Given the description of an element on the screen output the (x, y) to click on. 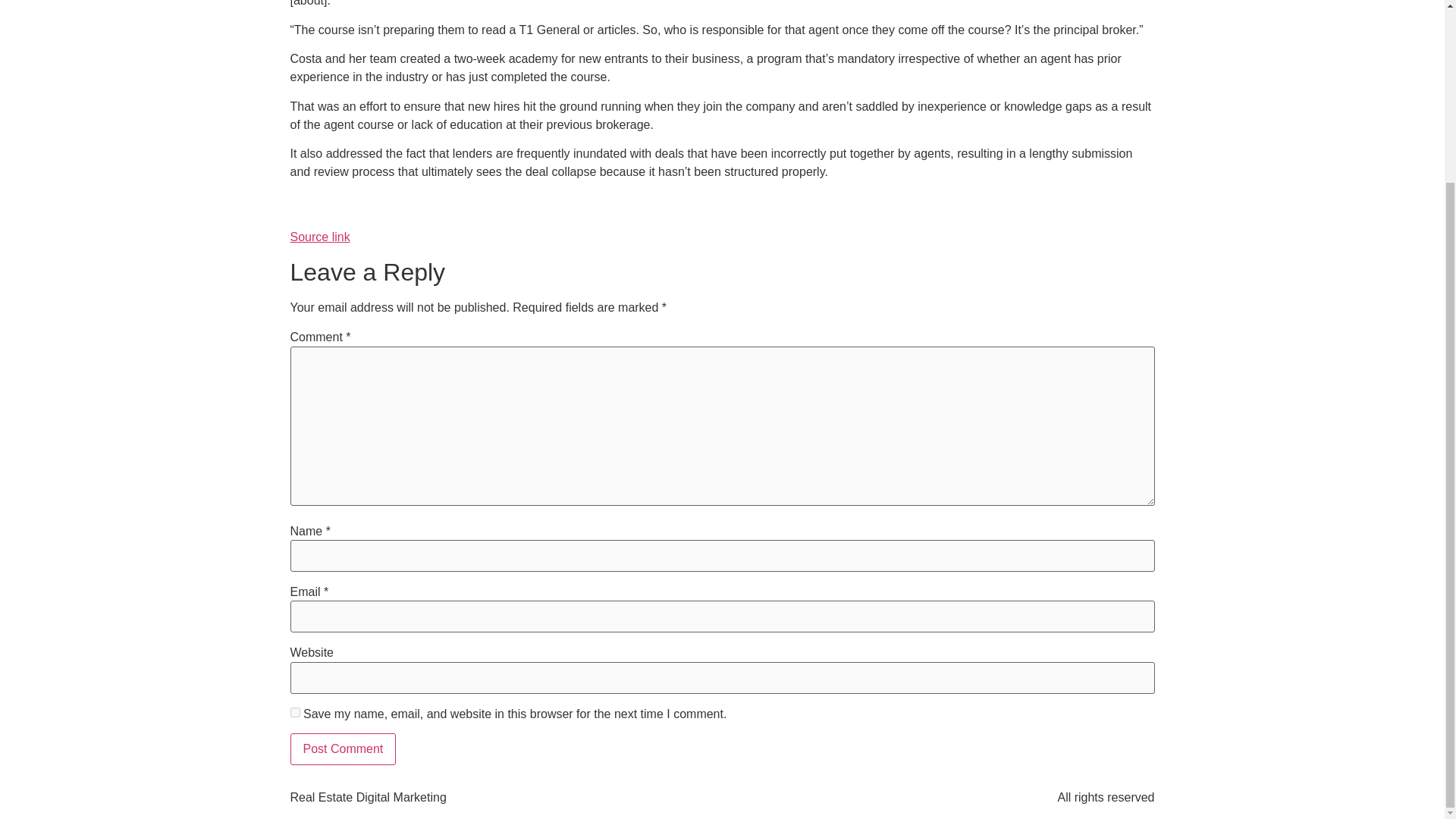
Source link (319, 236)
Post Comment (342, 748)
yes (294, 712)
Post Comment (342, 748)
